Given the description of an element on the screen output the (x, y) to click on. 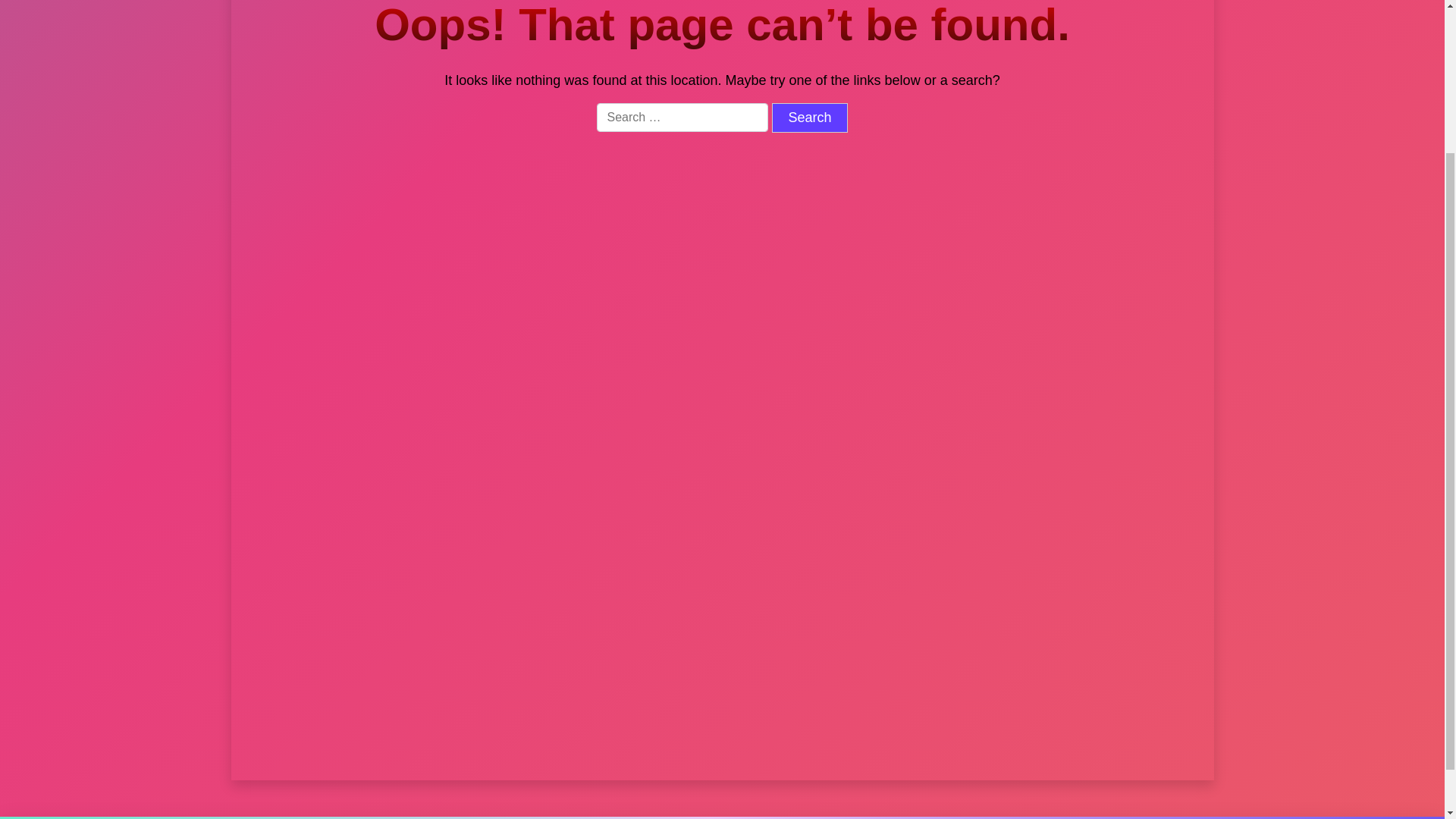
Search (809, 117)
Search (1026, 221)
Search (809, 117)
Search (809, 117)
